Given the description of an element on the screen output the (x, y) to click on. 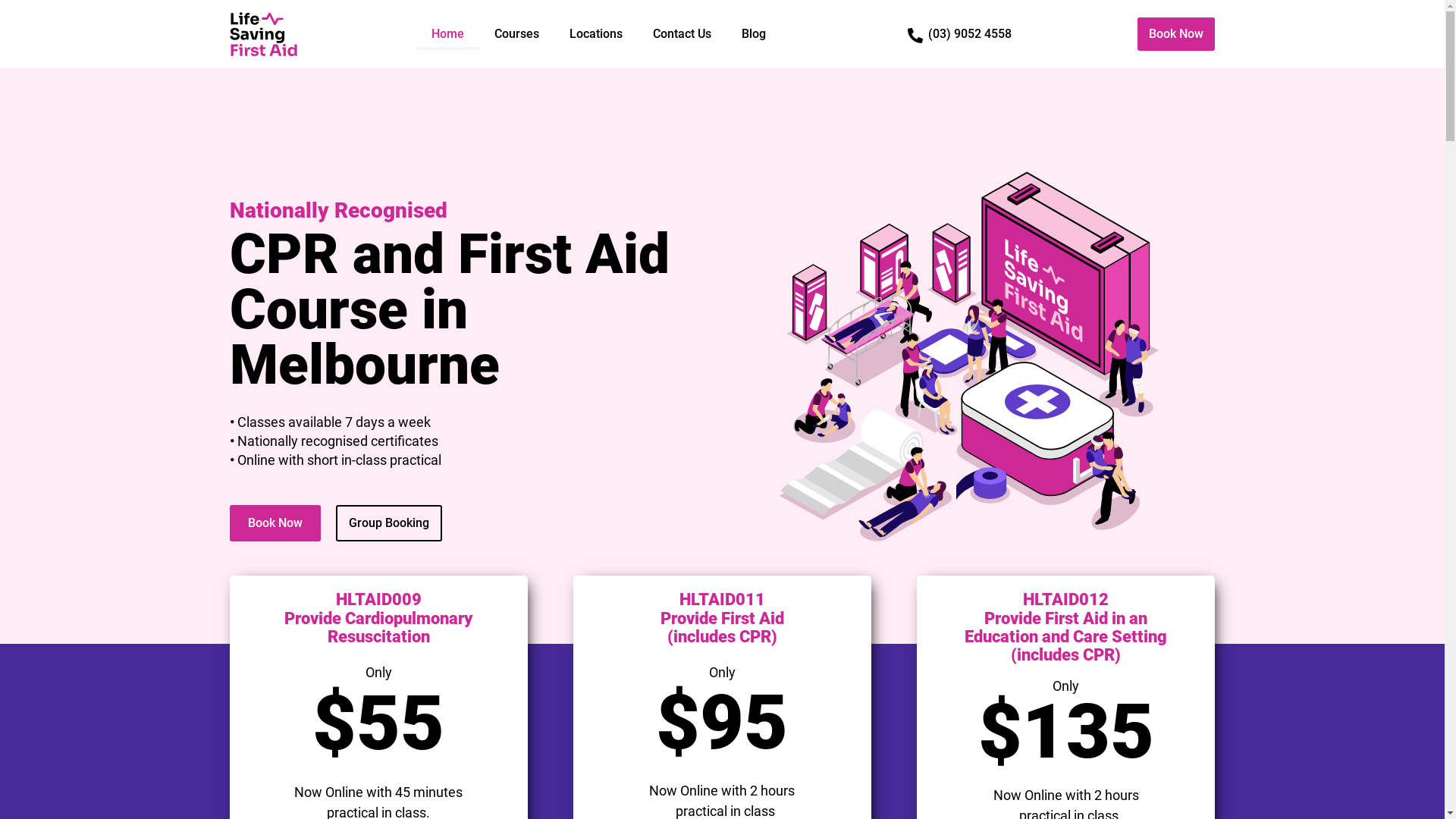
Contact Us Element type: text (681, 33)
Locations Element type: text (595, 33)
Group Booking Element type: text (388, 523)
(03) 9052 4558 Element type: text (969, 33)
Home Element type: text (447, 33)
Courses Element type: text (516, 33)
Book Now Element type: text (1175, 33)
Book Now Element type: text (274, 523)
Blog Element type: text (753, 33)
